Given the description of an element on the screen output the (x, y) to click on. 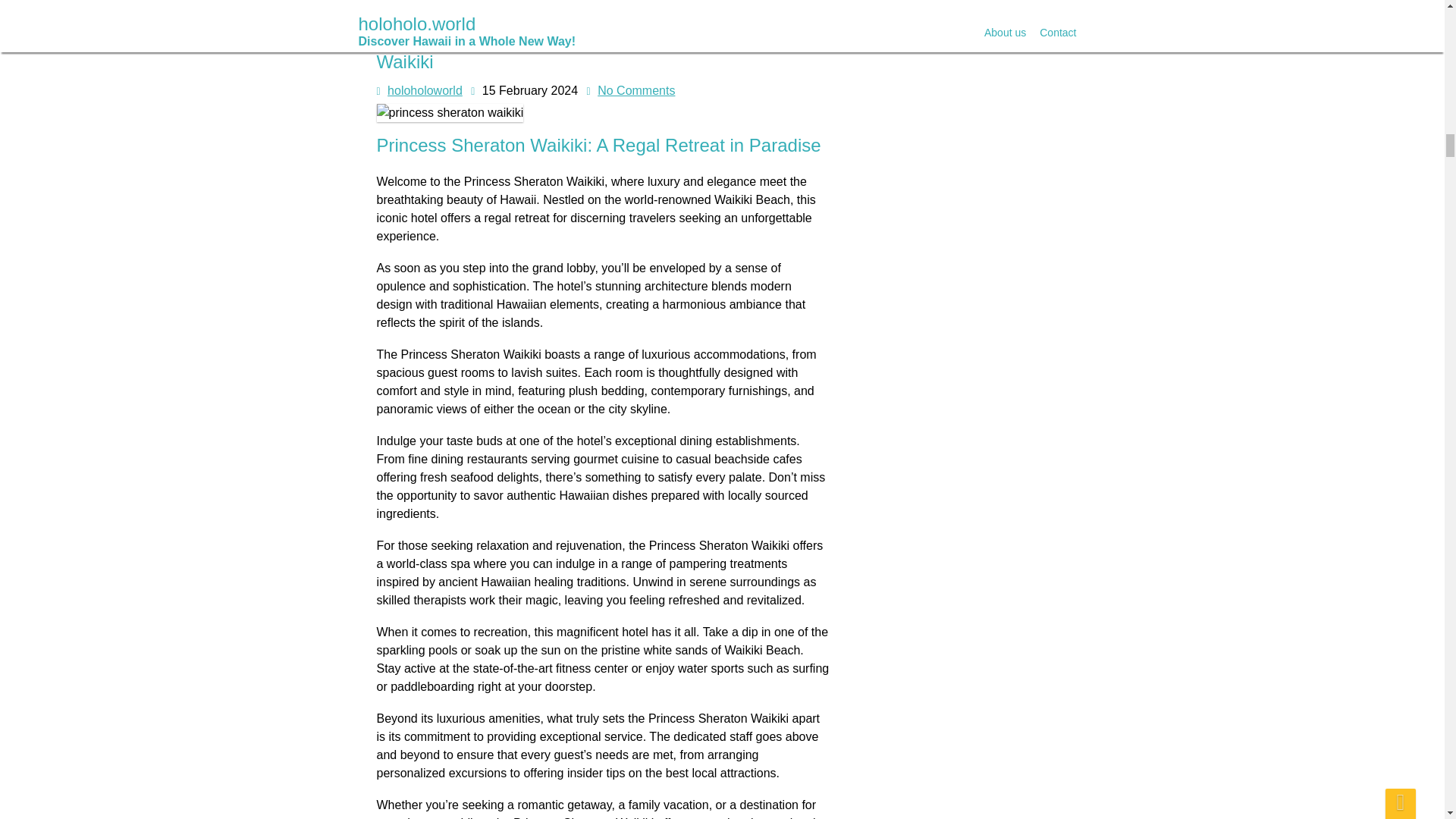
Posts by holoholoworld (425, 90)
Experience the Majestic Charm of Princess Sheraton Waikiki (589, 48)
